Given the description of an element on the screen output the (x, y) to click on. 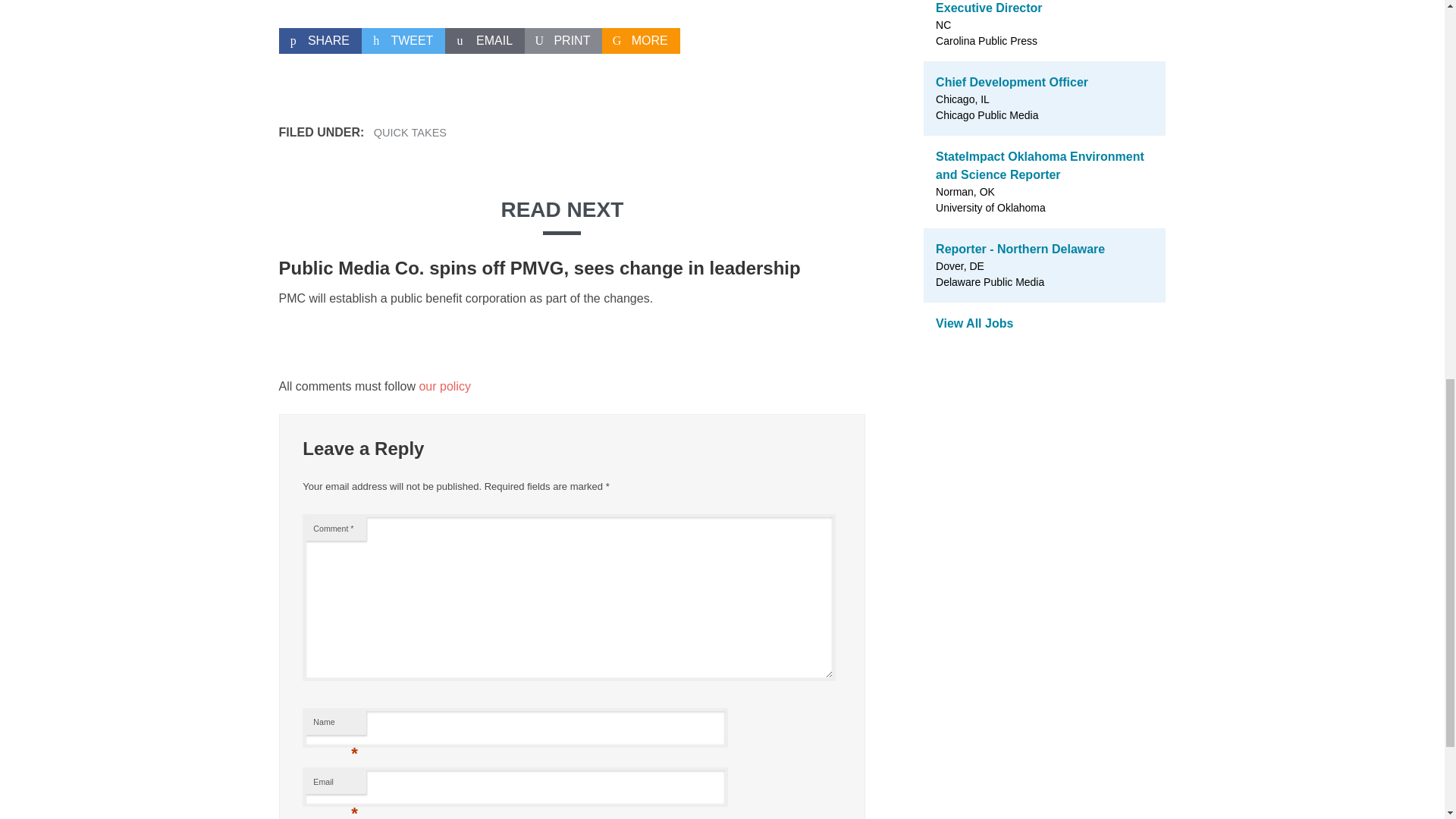
Read:  (539, 267)
Read Posts in the Quick Takes category (410, 132)
Print this article (563, 40)
